Given the description of an element on the screen output the (x, y) to click on. 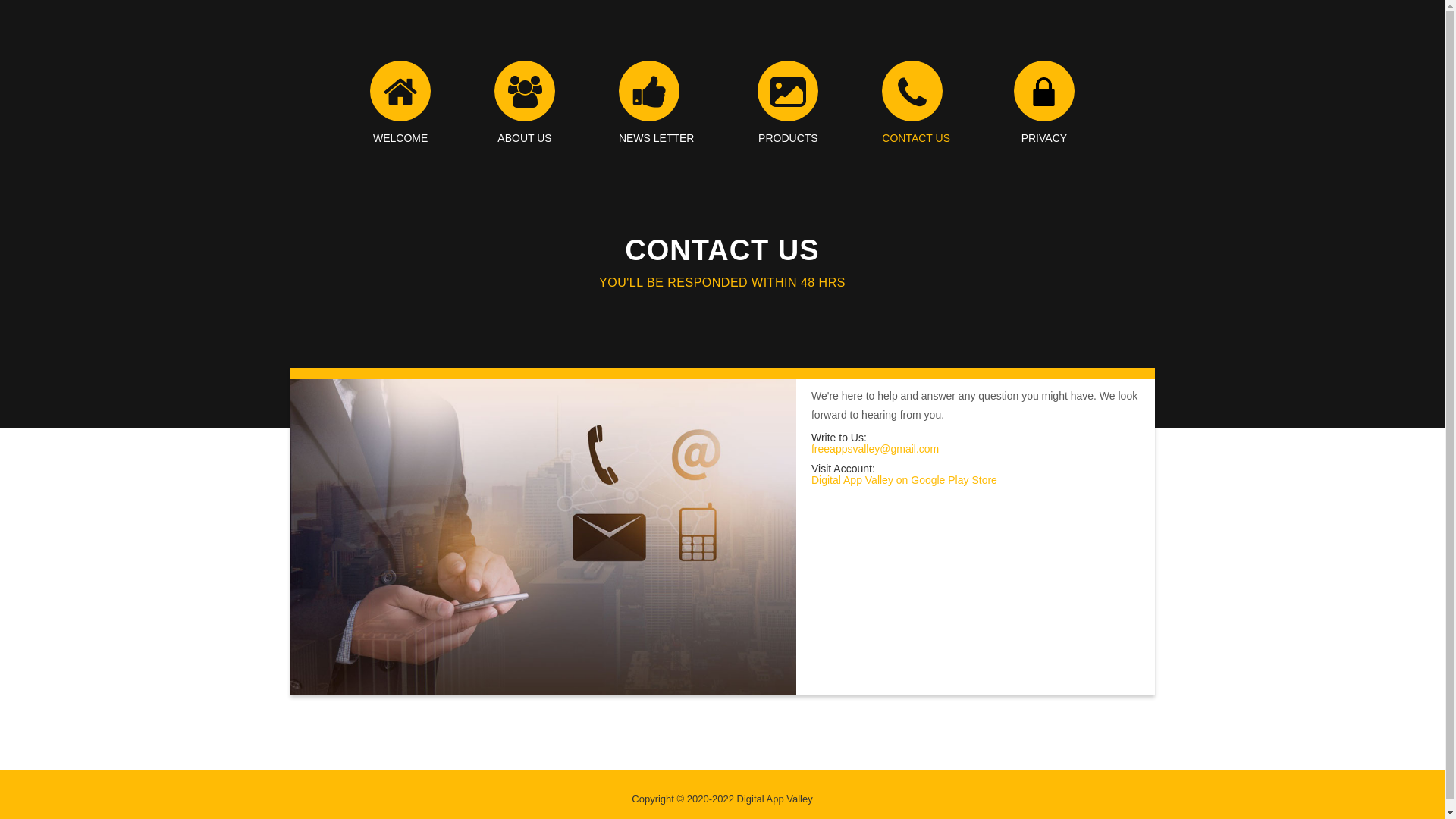
NEWS LETTER (656, 102)
Digital App Valley on Google Play Store (903, 480)
